Given the description of an element on the screen output the (x, y) to click on. 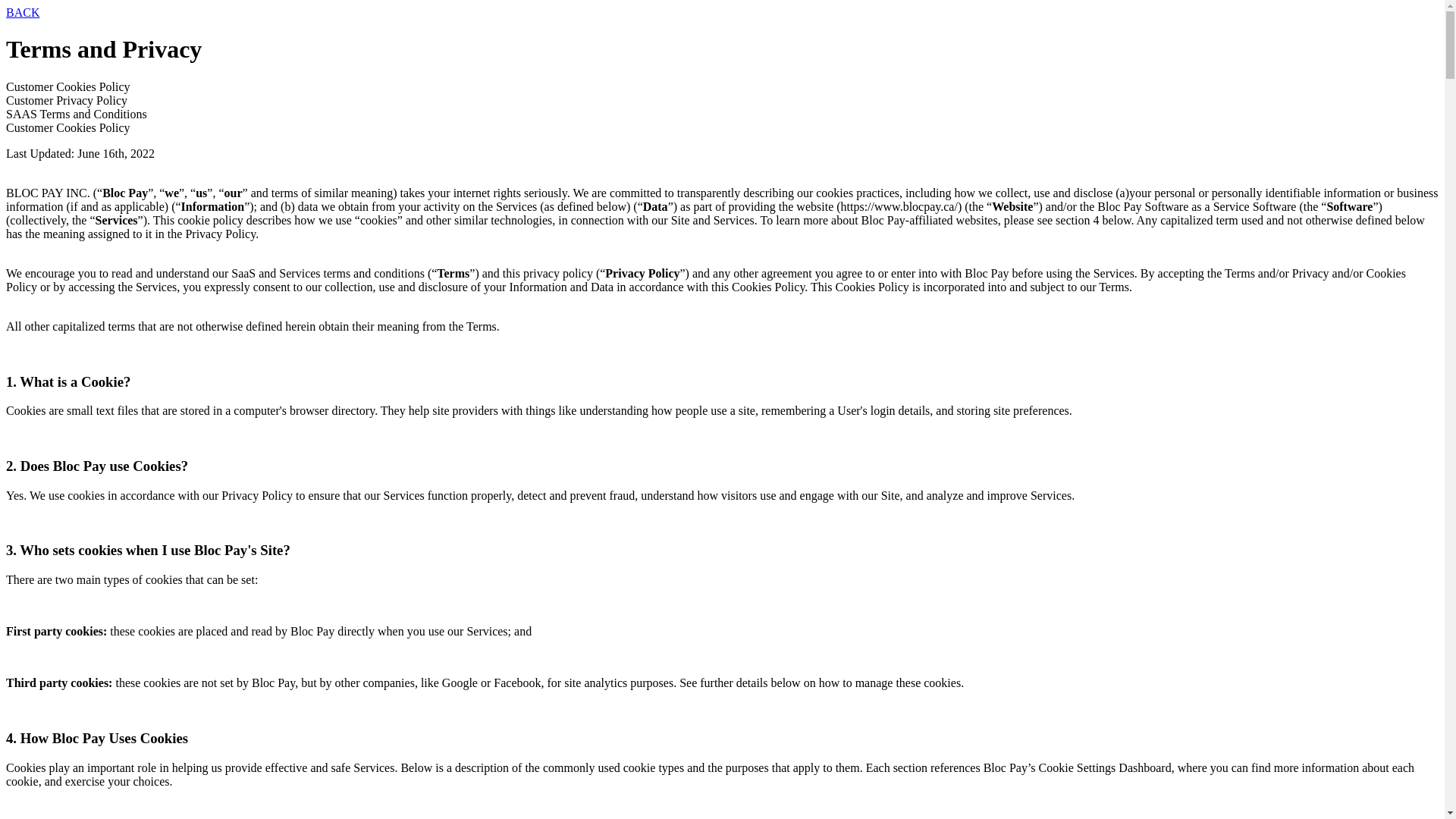
Customer Cookies Policy Element type: text (722, 87)
SAAS Terms and Conditions Element type: text (722, 114)
Customer Privacy Policy Element type: text (722, 100)
BACK Element type: text (722, 12)
